Given the description of an element on the screen output the (x, y) to click on. 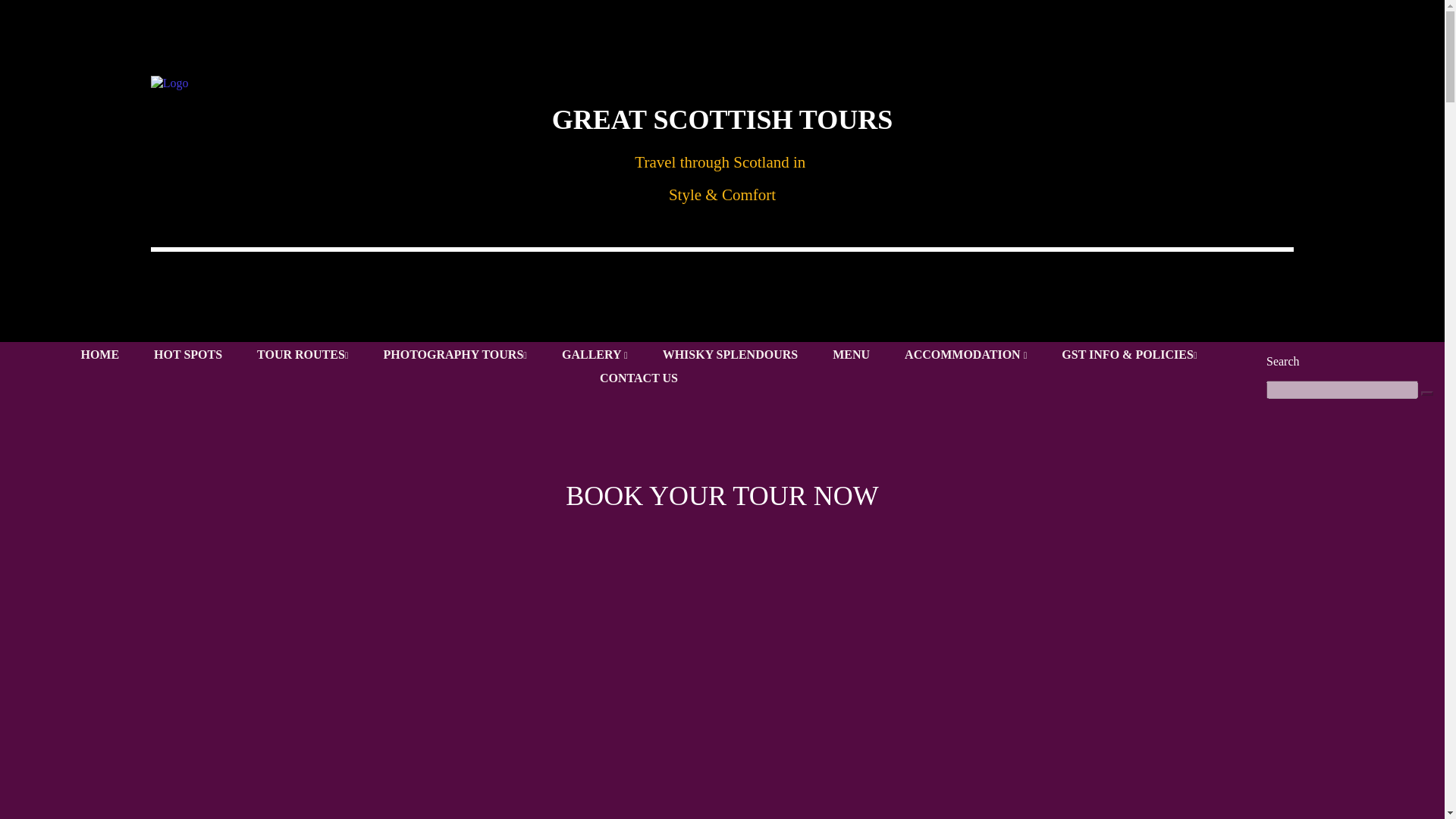
MENU (850, 356)
ACCOMMODATION (964, 357)
WHISKY SPLENDOURS (730, 356)
TOUR ROUTES (302, 357)
GALLERY (594, 357)
PHOTOGRAPHY TOURS (454, 357)
HOME (99, 356)
HOT SPOTS (188, 356)
